Given the description of an element on the screen output the (x, y) to click on. 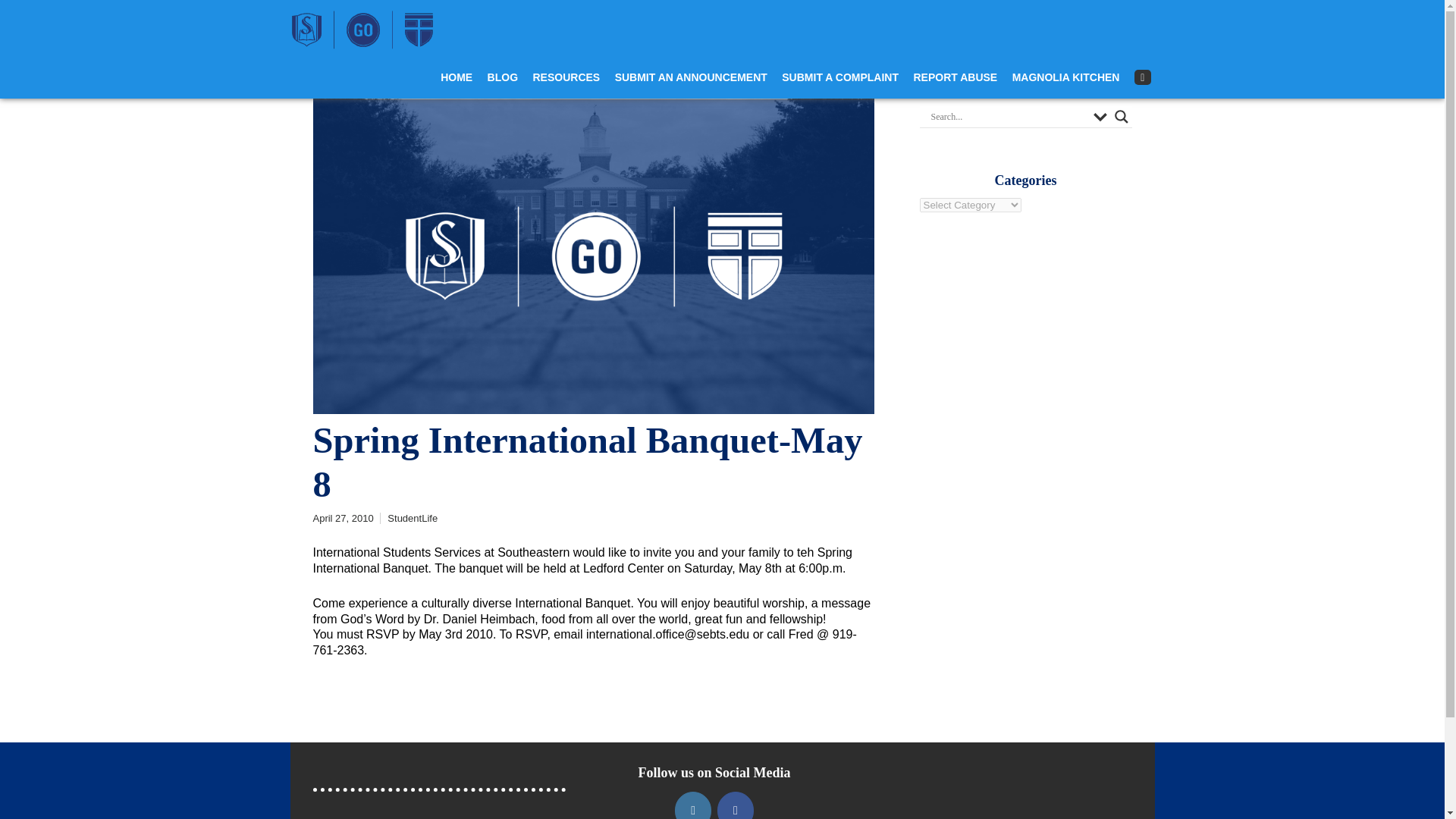
BLOG (502, 77)
HOME (456, 77)
Around Southeastern on Facebook (735, 805)
SUBMIT AN ANNOUNCEMENT (690, 77)
Posts by StudentLife (412, 518)
RESOURCES (565, 77)
Around Southeastern on Instagram (693, 805)
